Given the description of an element on the screen output the (x, y) to click on. 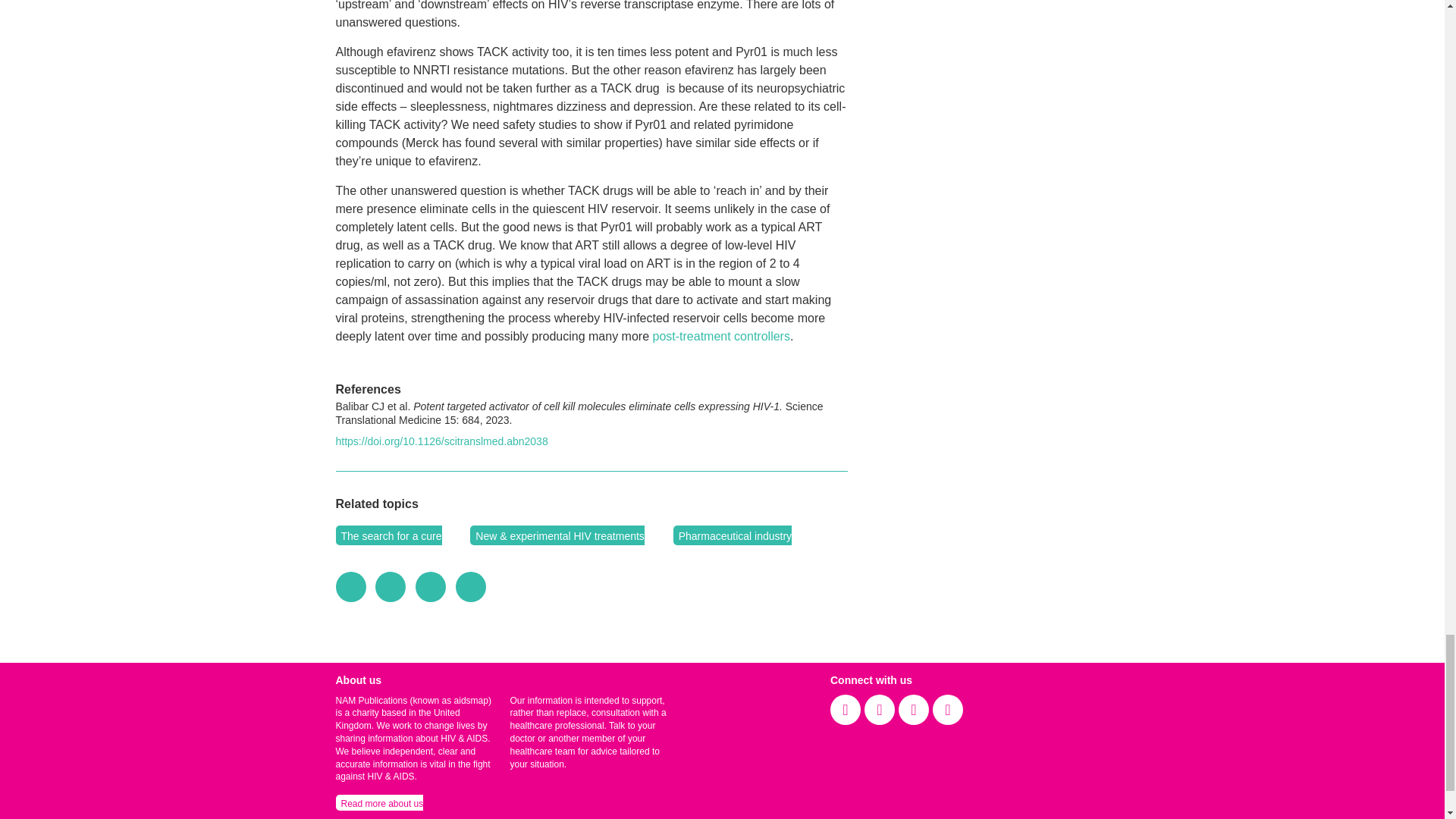
Print (470, 586)
Pharmaceutical industry (732, 535)
post-treatment controllers (720, 336)
Twitter (390, 586)
LinkedIn (429, 586)
The search for a cure (387, 535)
Facebook (349, 586)
